Given the description of an element on the screen output the (x, y) to click on. 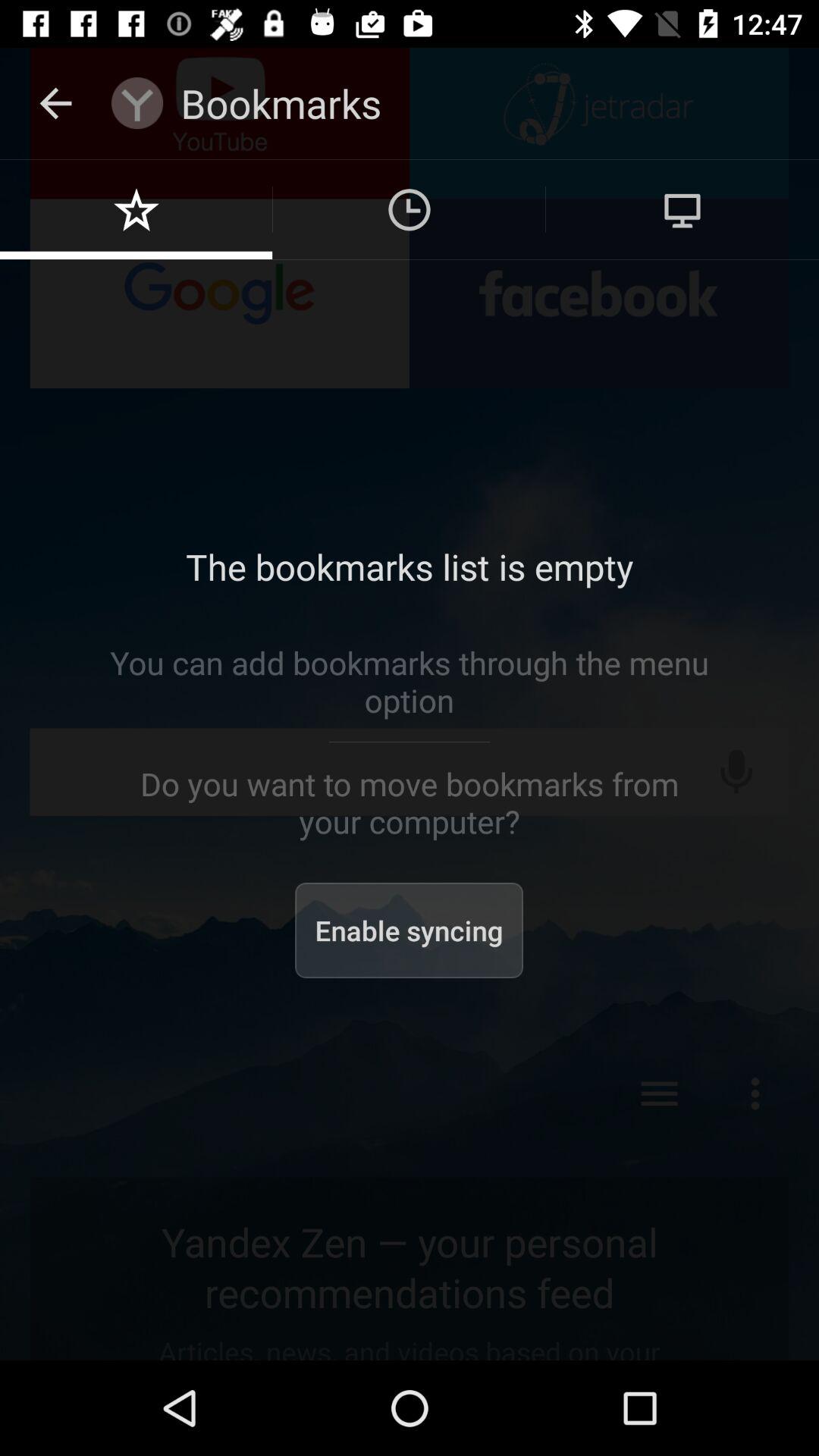
flip to the enable syncing item (409, 930)
